Given the description of an element on the screen output the (x, y) to click on. 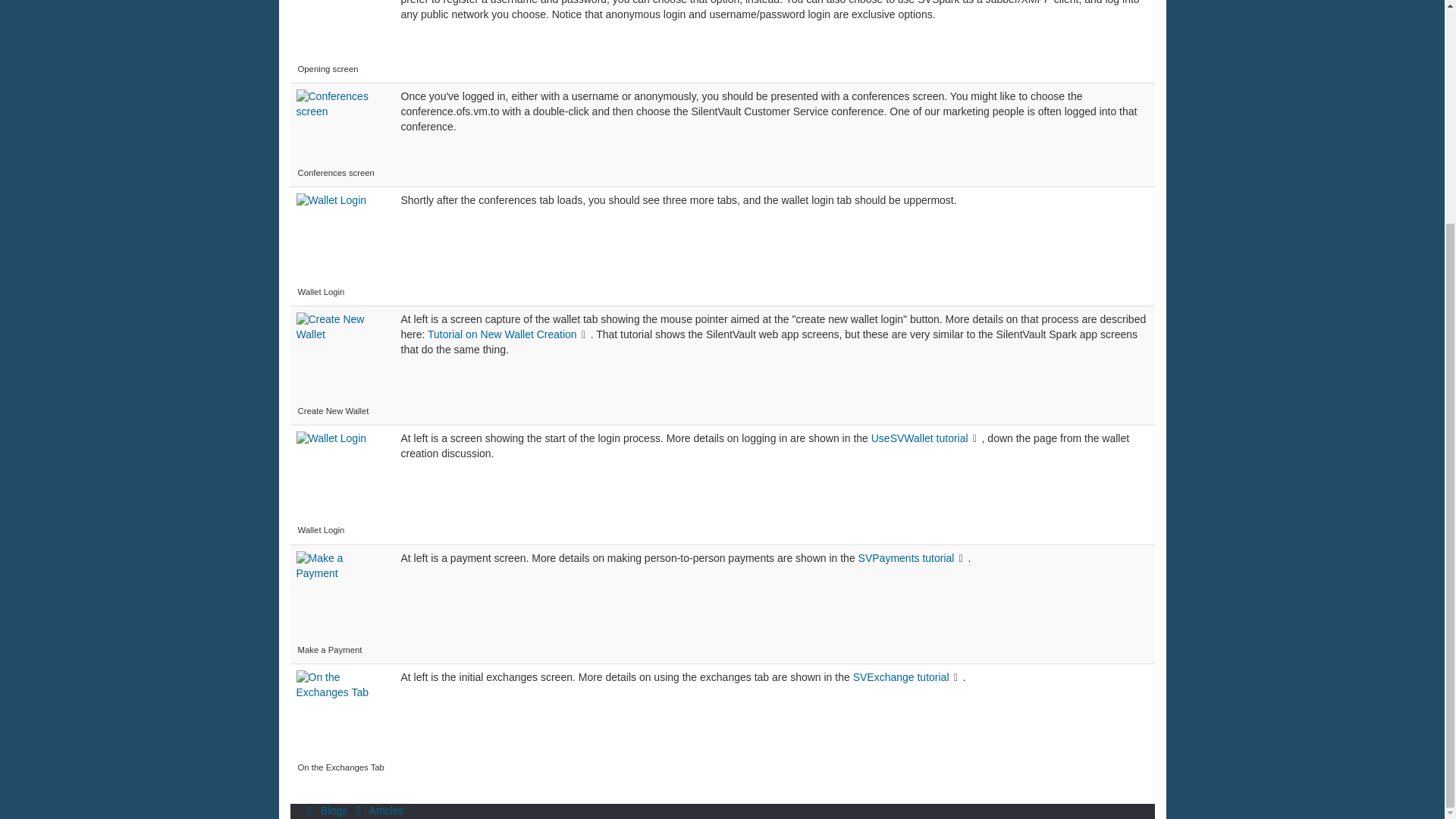
Make a Payment (339, 596)
Make a Payment (338, 596)
Opening screen (341, 30)
Create New Wallet (338, 357)
Create New Wallet (339, 357)
Conferences screen (341, 127)
Wallet Login (339, 476)
Wallet Login (338, 238)
Wallet Login (338, 238)
Wallet Login (340, 476)
